Given the description of an element on the screen output the (x, y) to click on. 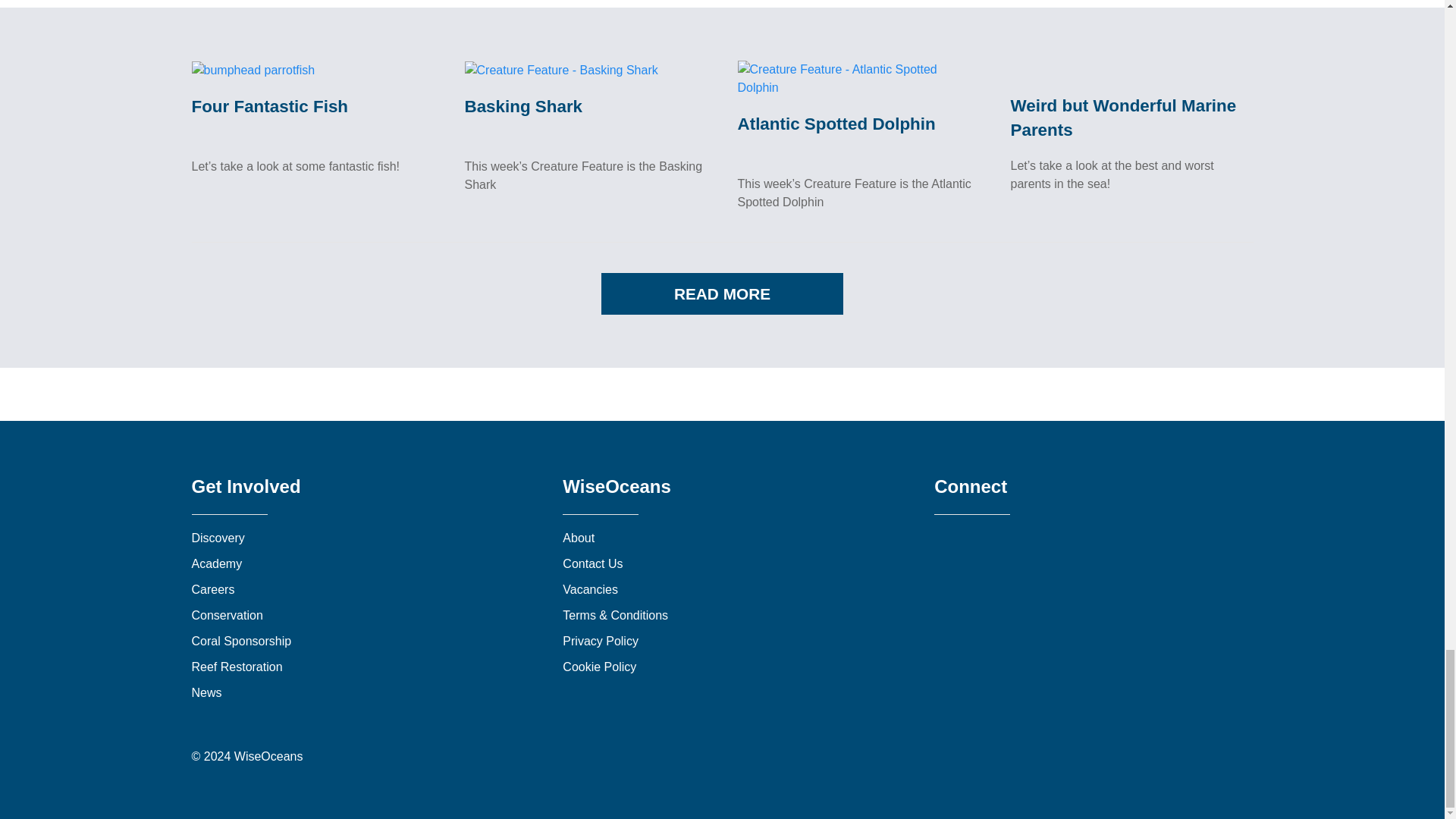
Four Fantastic Fish (268, 106)
Atlantic Spotted Dolphin (857, 77)
Atlantic Spotted Dolphin (835, 123)
Four Fantastic Fish (268, 106)
Basking Shark (523, 106)
Basking Shark (561, 69)
Weird but Wonderful Marine Parents (1123, 117)
Four Fantastic Fish (252, 69)
Atlantic Spotted Dolphin (835, 123)
Basking Shark (523, 106)
